Given the description of an element on the screen output the (x, y) to click on. 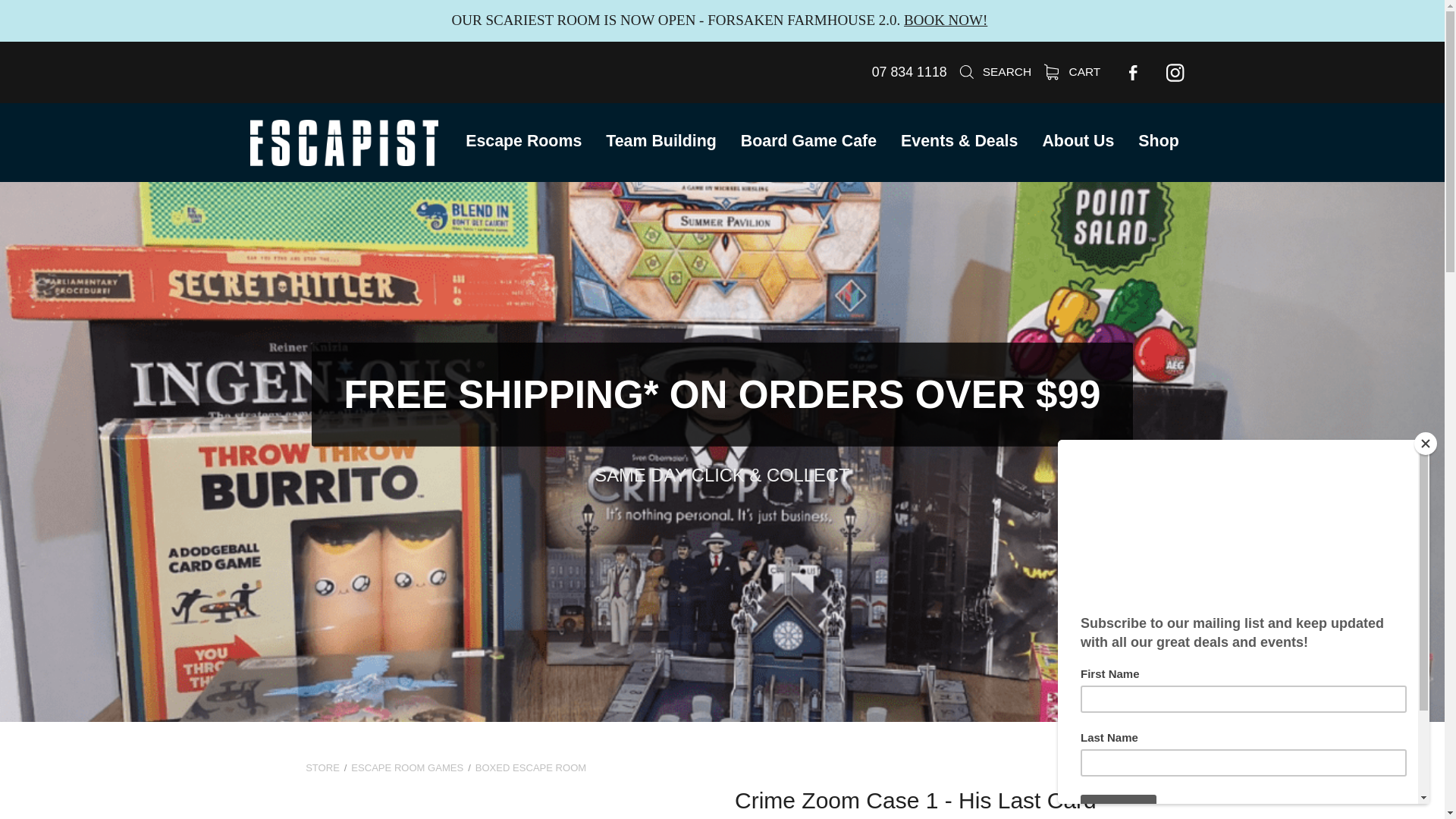
Board Game Cafe (808, 140)
Escape Rooms (522, 140)
A link to this website's Instagram. (1174, 72)
Team Building (660, 140)
SEARCH (994, 71)
STORE (322, 767)
About Us (1077, 140)
CART (1071, 71)
Shop (1157, 140)
A link to this website's Facebook. (1132, 72)
BOOK NOW! (945, 19)
BOXED ESCAPE ROOM (531, 767)
ESCAPE ROOM GAMES (406, 767)
